Given the description of an element on the screen output the (x, y) to click on. 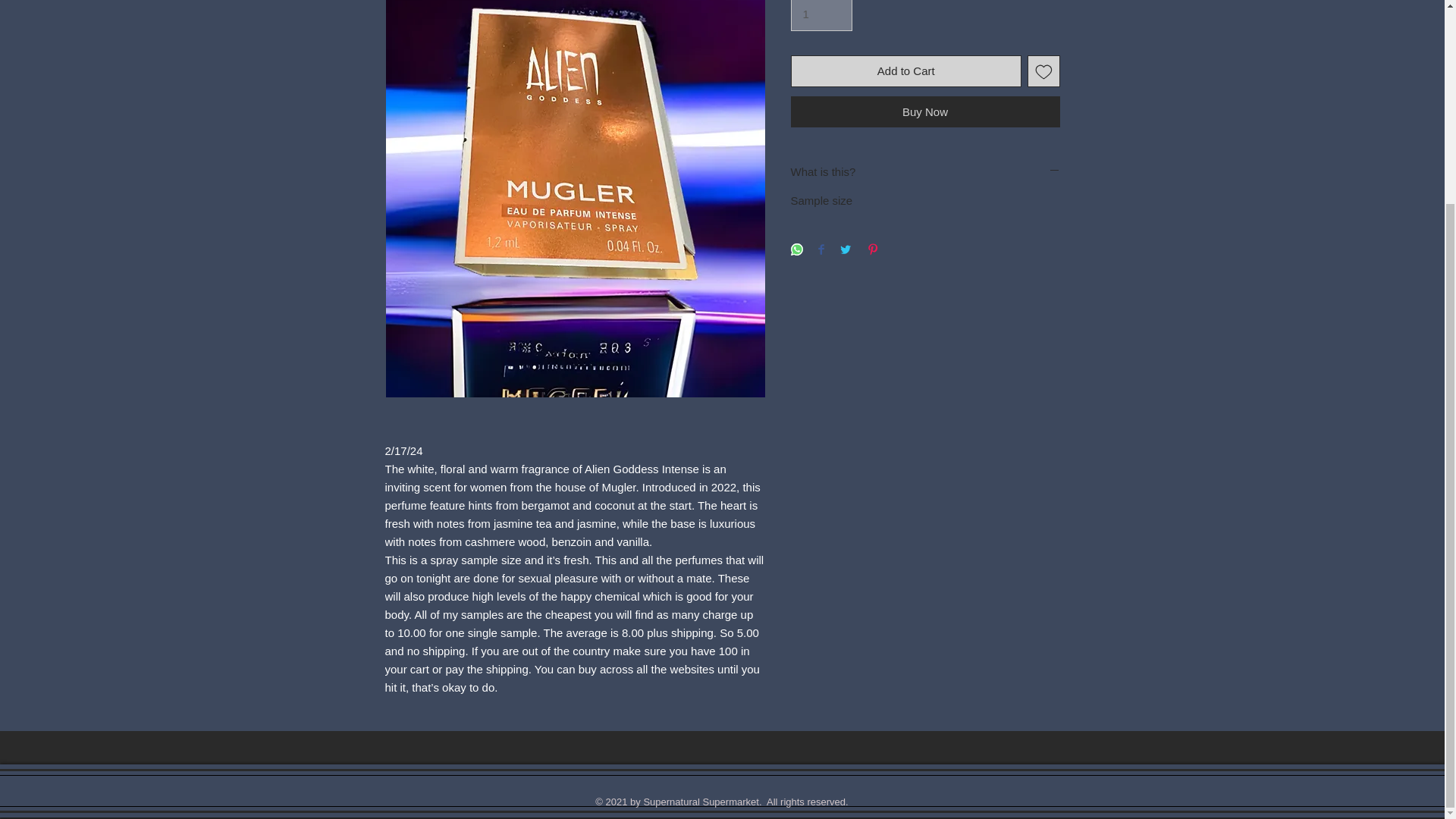
Buy Now (924, 111)
1 (820, 15)
What is this? (924, 171)
Add to Cart (906, 71)
